Given the description of an element on the screen output the (x, y) to click on. 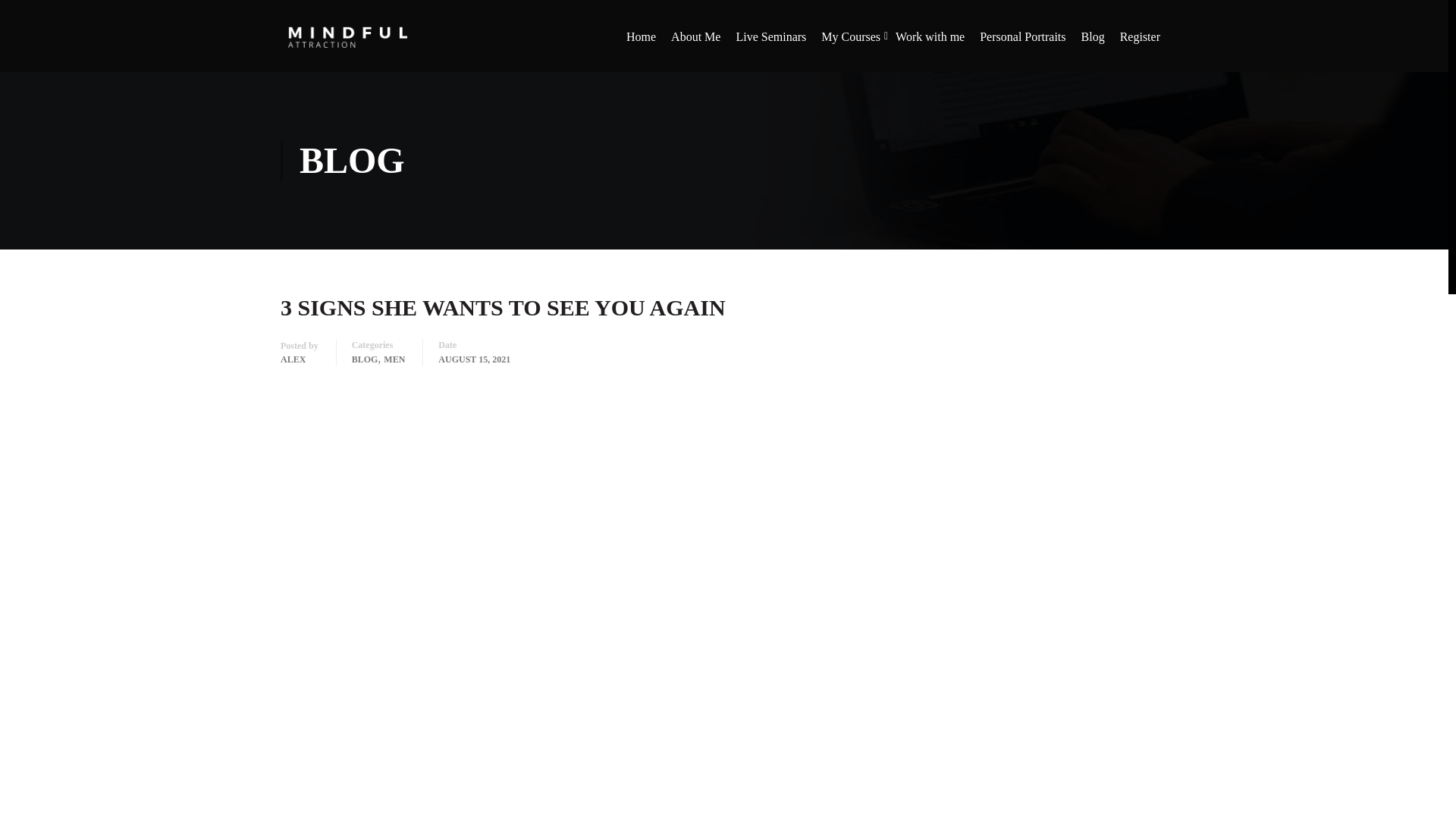
My Courses (850, 43)
MEN (394, 359)
About Me (695, 43)
BLOG (365, 359)
Live Seminars (770, 43)
Mindful Attraction -  (347, 42)
ALEX (293, 359)
Home (640, 43)
Personal Portraits (1022, 43)
Work with me (930, 43)
Register (1139, 43)
